Given the description of an element on the screen output the (x, y) to click on. 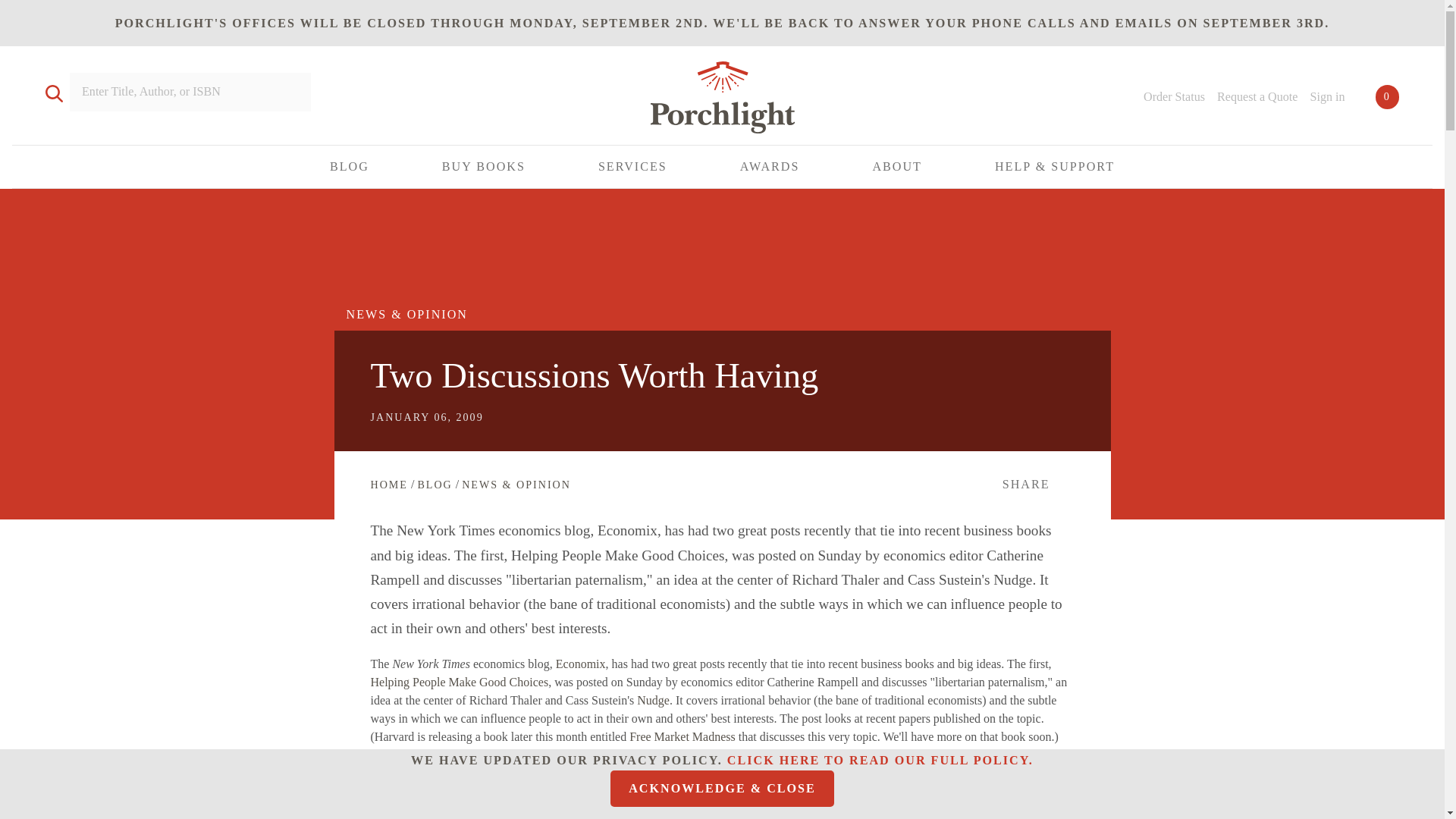
BUY BOOKS (484, 166)
Blog (433, 484)
SERVICES (632, 166)
BLOG (350, 166)
Porchlight (721, 99)
